Given the description of an element on the screen output the (x, y) to click on. 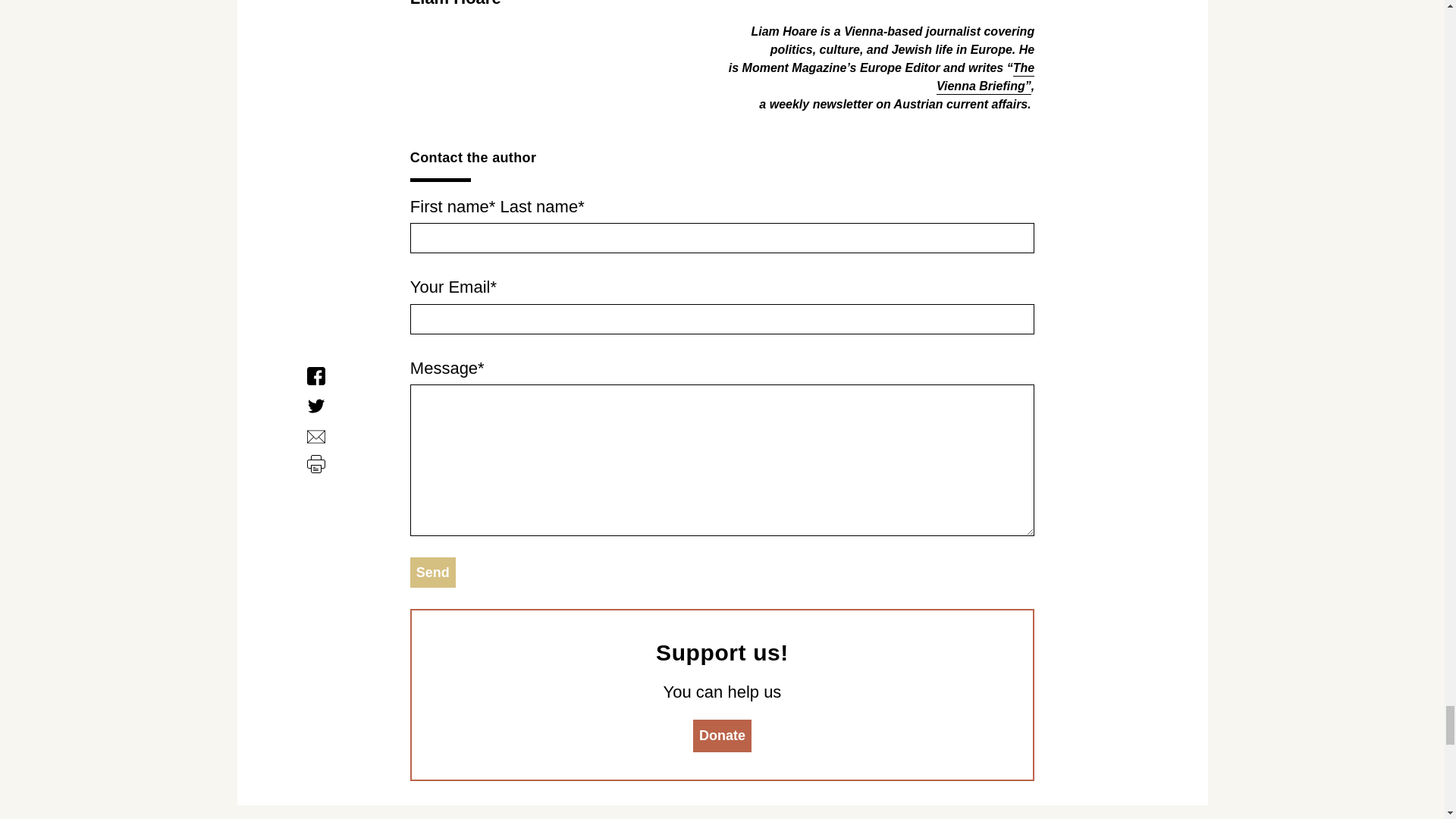
Send (432, 572)
Donation to the publishing association of  (722, 735)
